Given the description of an element on the screen output the (x, y) to click on. 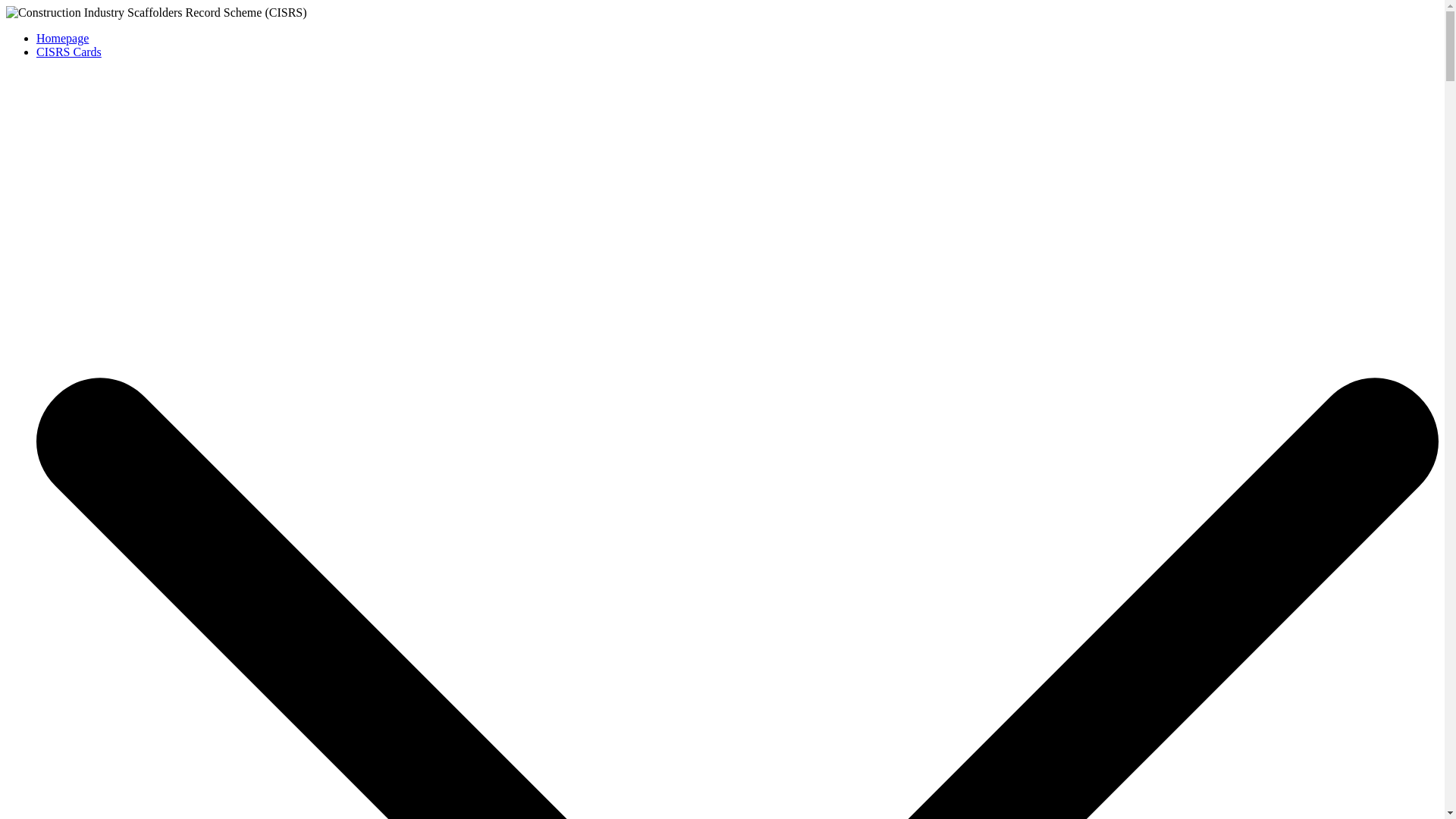
Homepage (62, 38)
CISRS Cards (68, 51)
CISRS Cards (68, 51)
Homepage (62, 38)
